Given the description of an element on the screen output the (x, y) to click on. 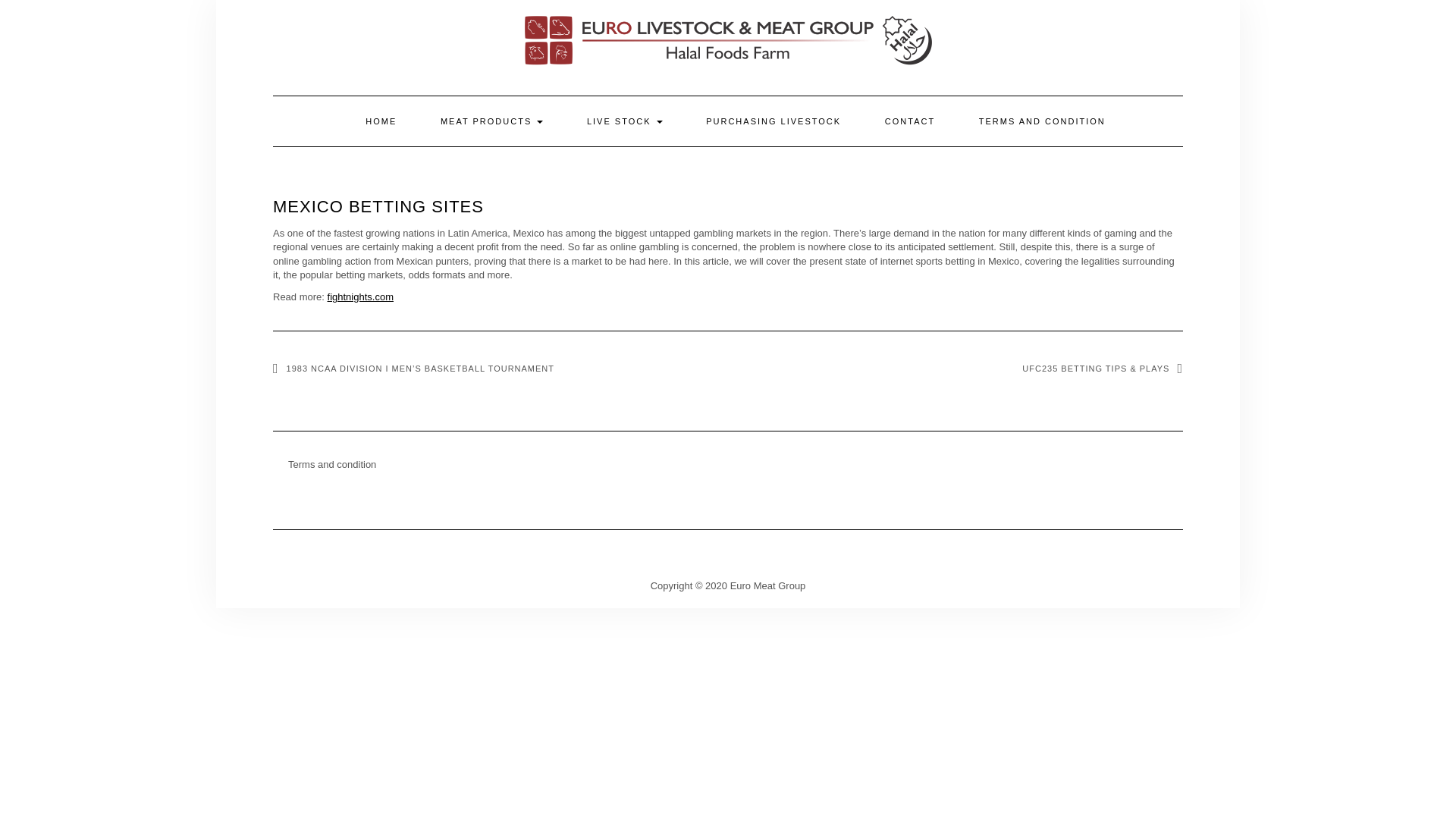
MEAT PRODUCTS (491, 121)
HOME (380, 121)
LIVE STOCK (624, 121)
TERMS AND CONDITION (1041, 121)
CONTACT (909, 121)
Terms and condition (331, 464)
fightnights.com (360, 296)
PURCHASING LIVESTOCK (773, 121)
